Given the description of an element on the screen output the (x, y) to click on. 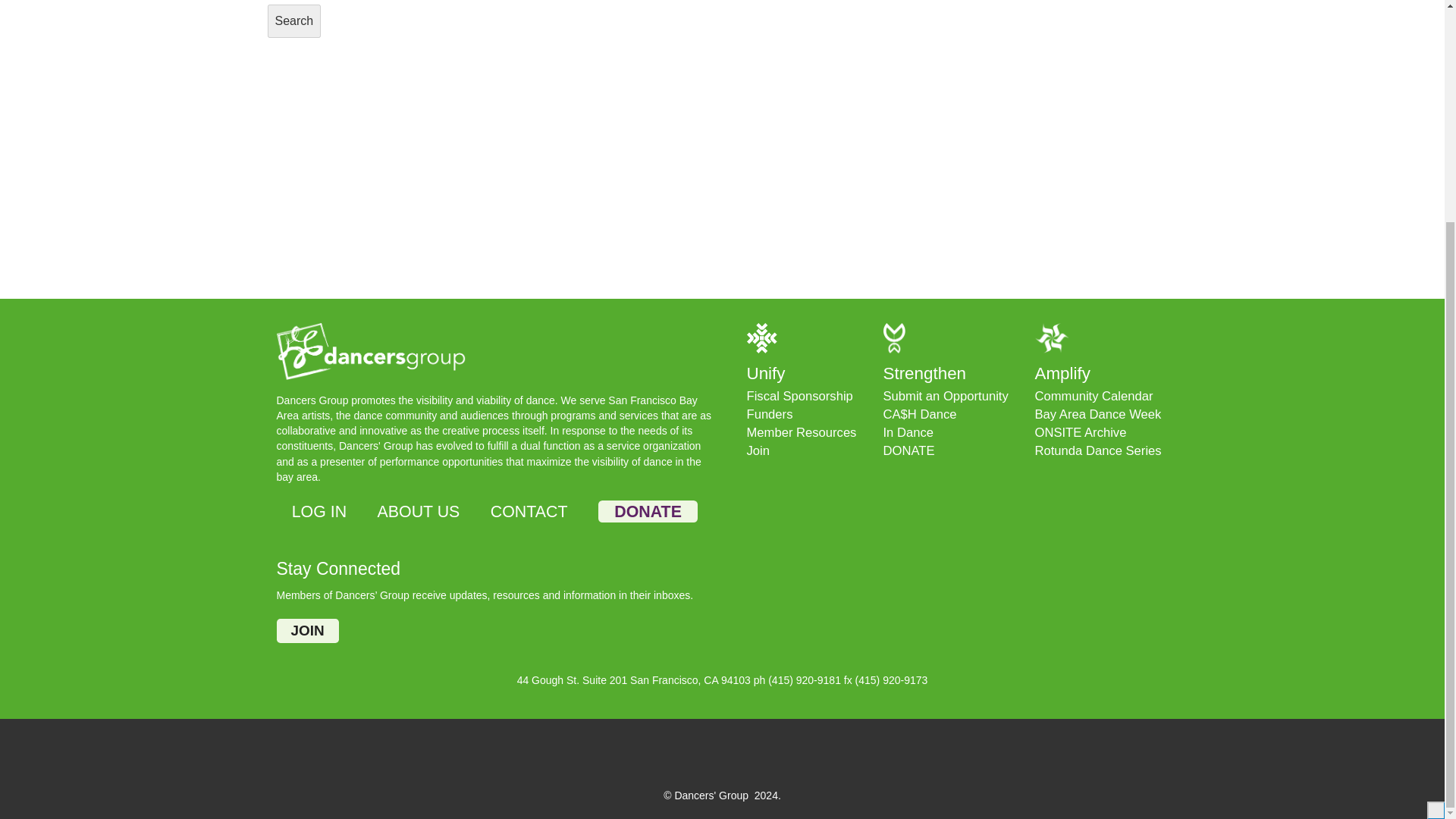
Search (293, 20)
Search (293, 20)
